Given the description of an element on the screen output the (x, y) to click on. 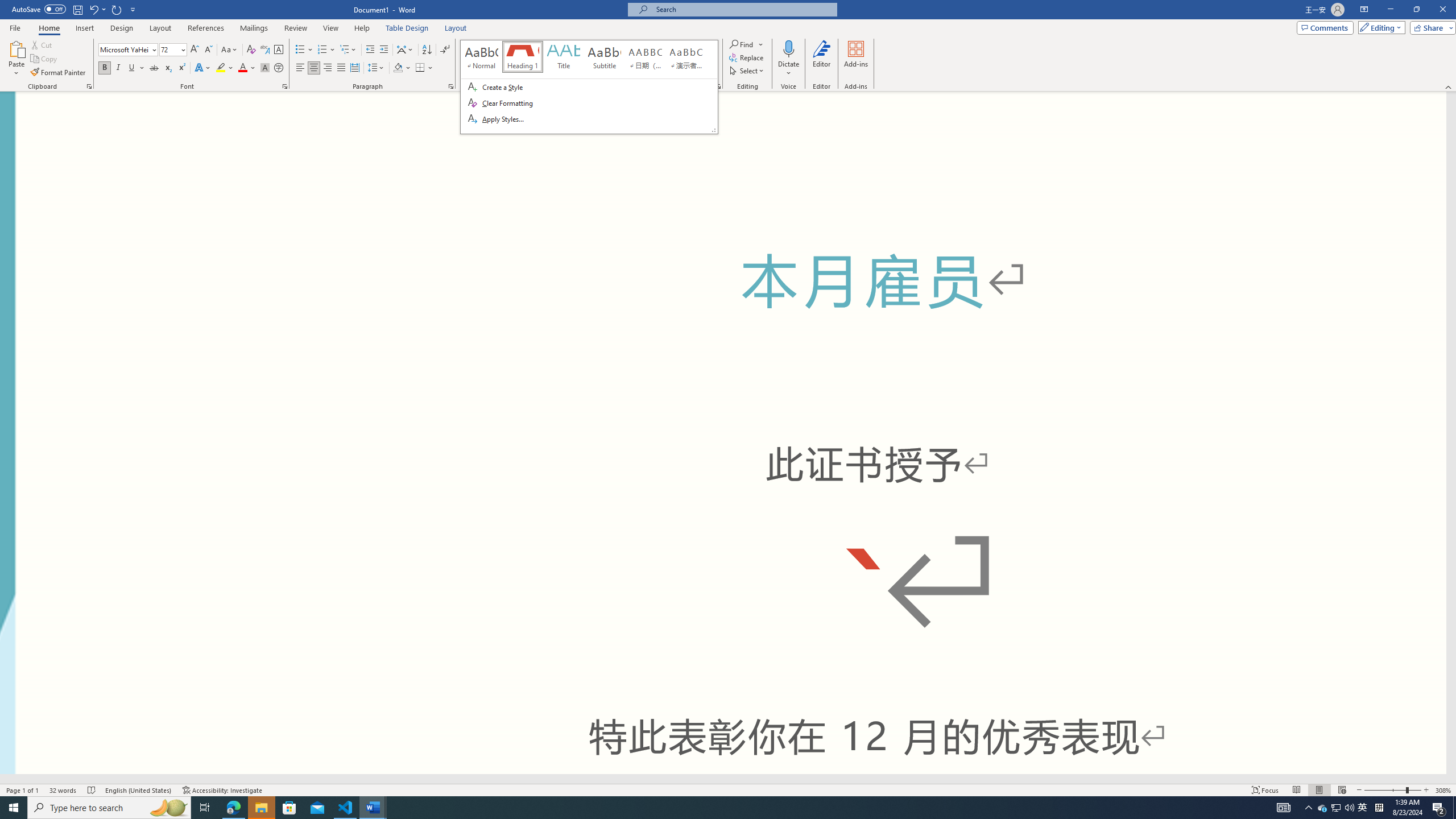
Show/Hide Editing Marks (444, 49)
Q2790: 100% (1349, 807)
User Promoted Notification Area (1336, 807)
Decrease Indent (370, 49)
Distributed (354, 67)
